Given the description of an element on the screen output the (x, y) to click on. 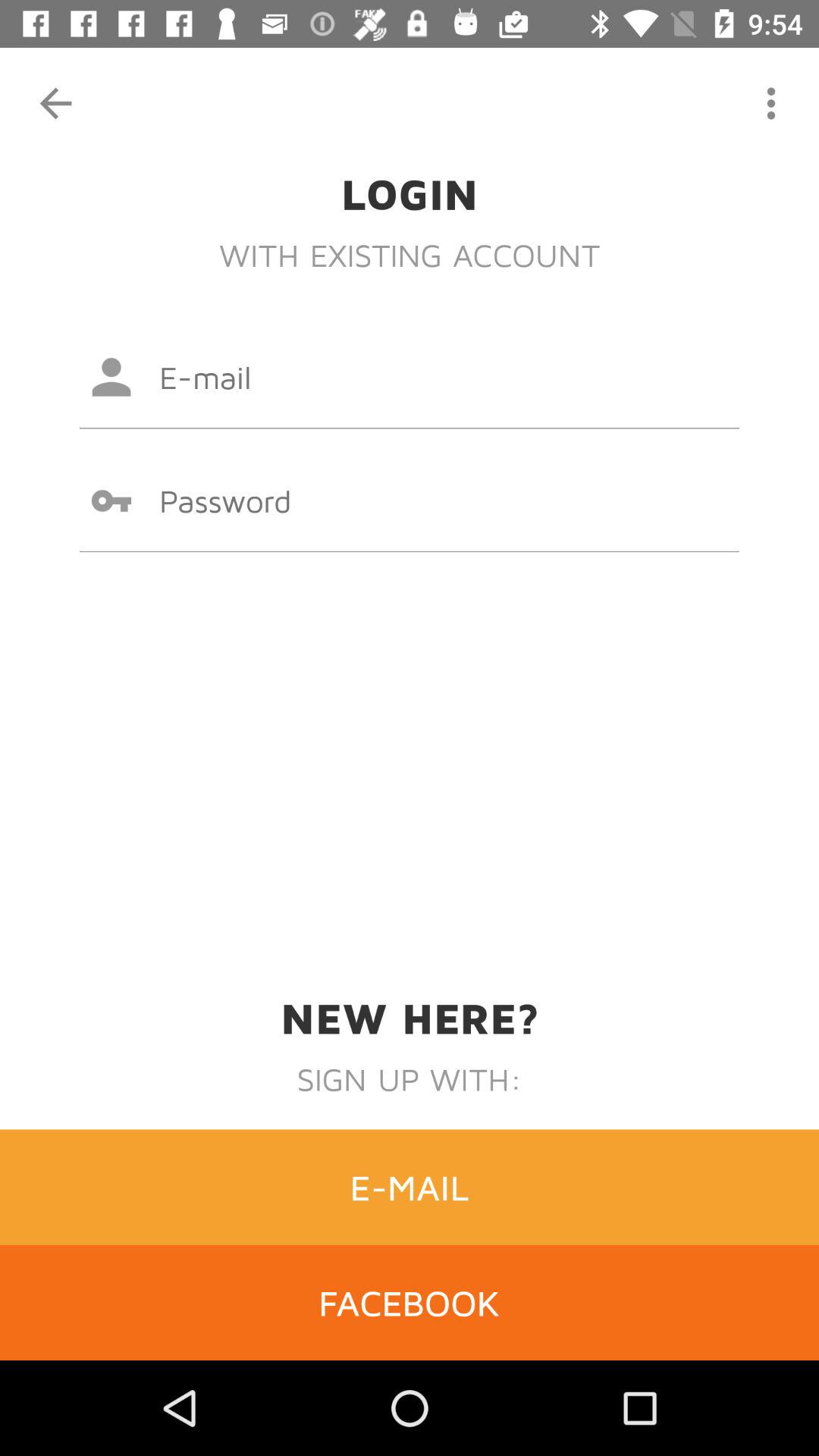
swipe until the e-mail item (409, 1186)
